Given the description of an element on the screen output the (x, y) to click on. 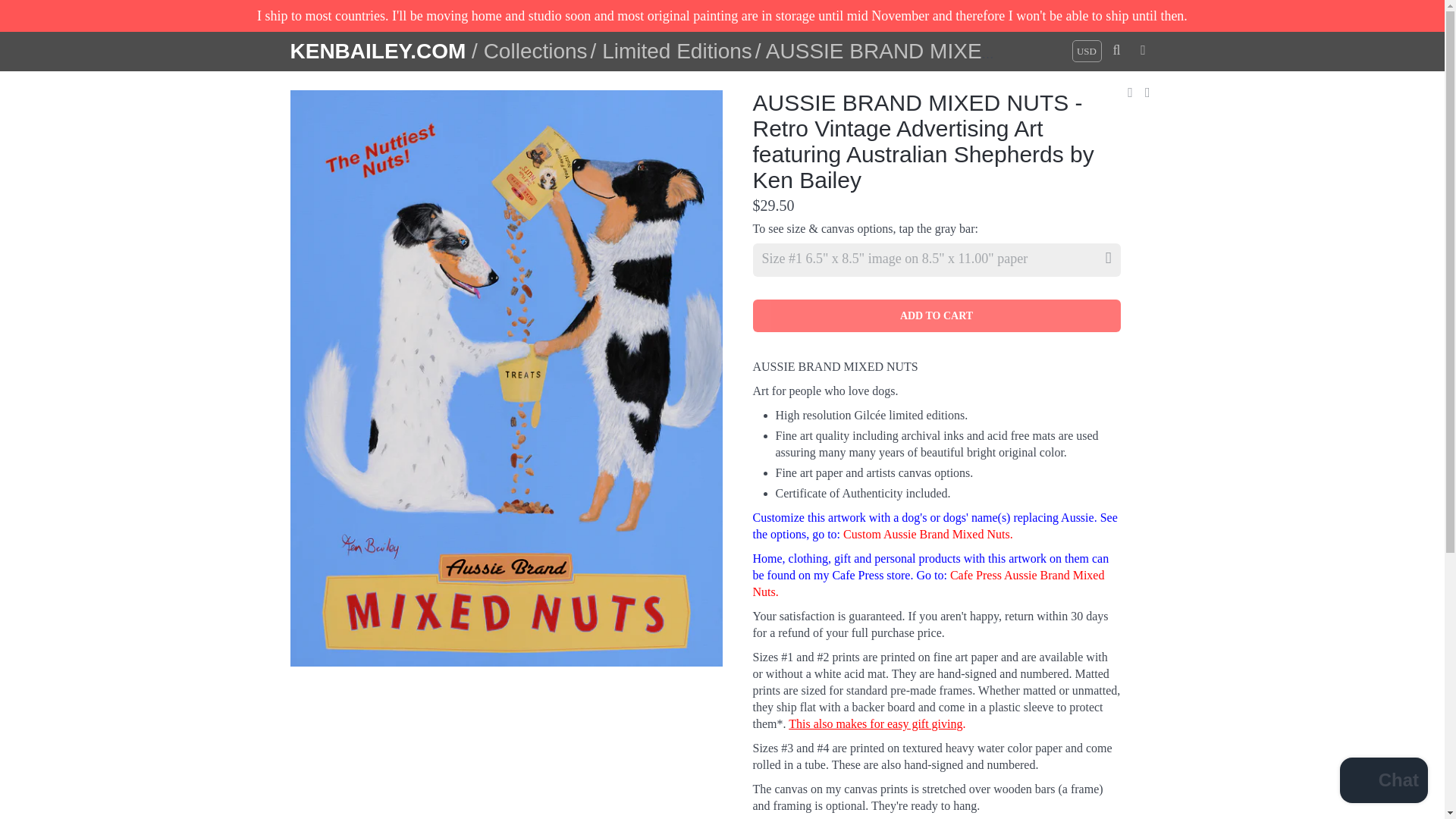
KENBAILEY.COM (380, 53)
Limited Editions (677, 51)
Custom Aussie Brand Mixed Nuts (928, 533)
Add to Cart (935, 315)
Cafe Press Aussie Brand Mixed Nuts. (927, 583)
Custom Aussie Brand Mixed Nuts. (928, 533)
Add to Cart (935, 315)
Cafe Press Aussie Brand Mixed Nuts (927, 583)
Shopify online store chat (1383, 781)
Collections (535, 51)
